Given the description of an element on the screen output the (x, y) to click on. 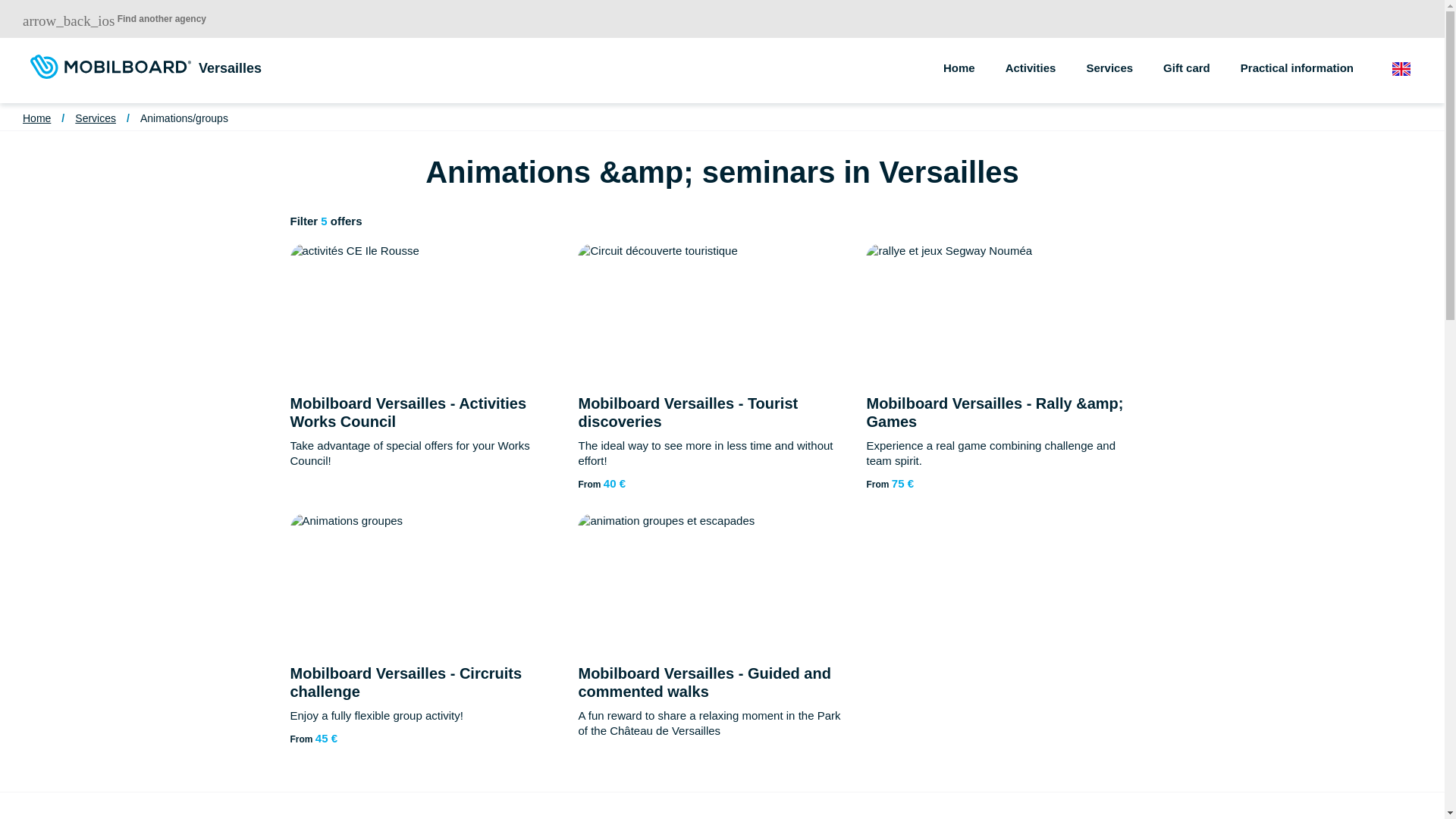
English (1410, 69)
Gift card (1201, 55)
Practical information (1312, 55)
Mobilboard Versailles - Circruits challenge (405, 682)
Mobilboard Versailles - Activities Works Council (407, 411)
Mobilboard Versailles - Guided and commented walks (703, 682)
Mobilboard Versailles - Guided and commented walks (703, 682)
Services (95, 118)
Mobilboard Versailles - Circruits challenge (405, 682)
Mobilboard Versailles - Tourist discoveries (687, 411)
Home (36, 118)
Mobilboard Versailles - Tourist discoveries (687, 411)
Home (974, 55)
Mobilboard Versailles - Activities Works Council (407, 411)
